Given the description of an element on the screen output the (x, y) to click on. 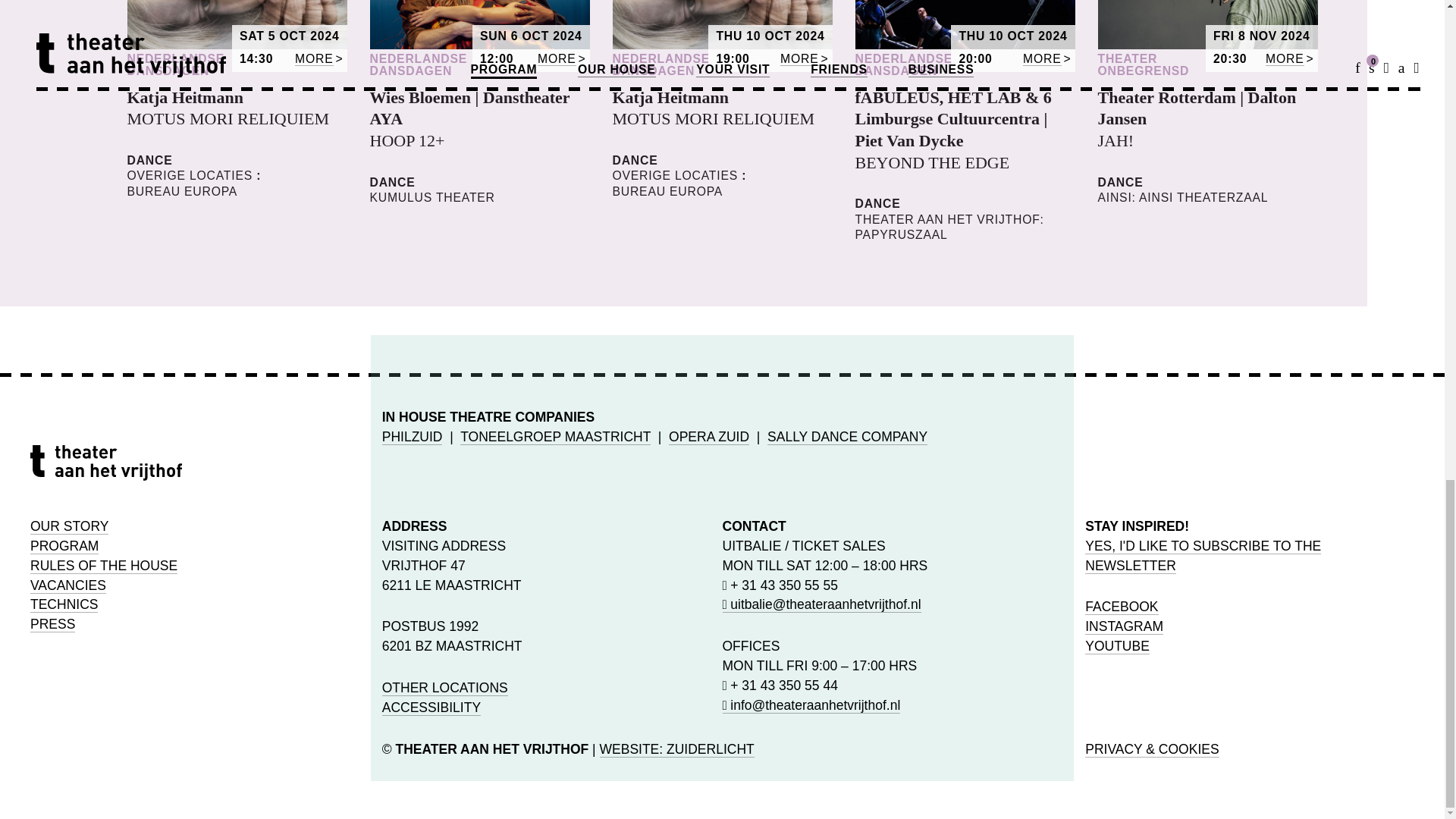
logo (106, 462)
